Given the description of an element on the screen output the (x, y) to click on. 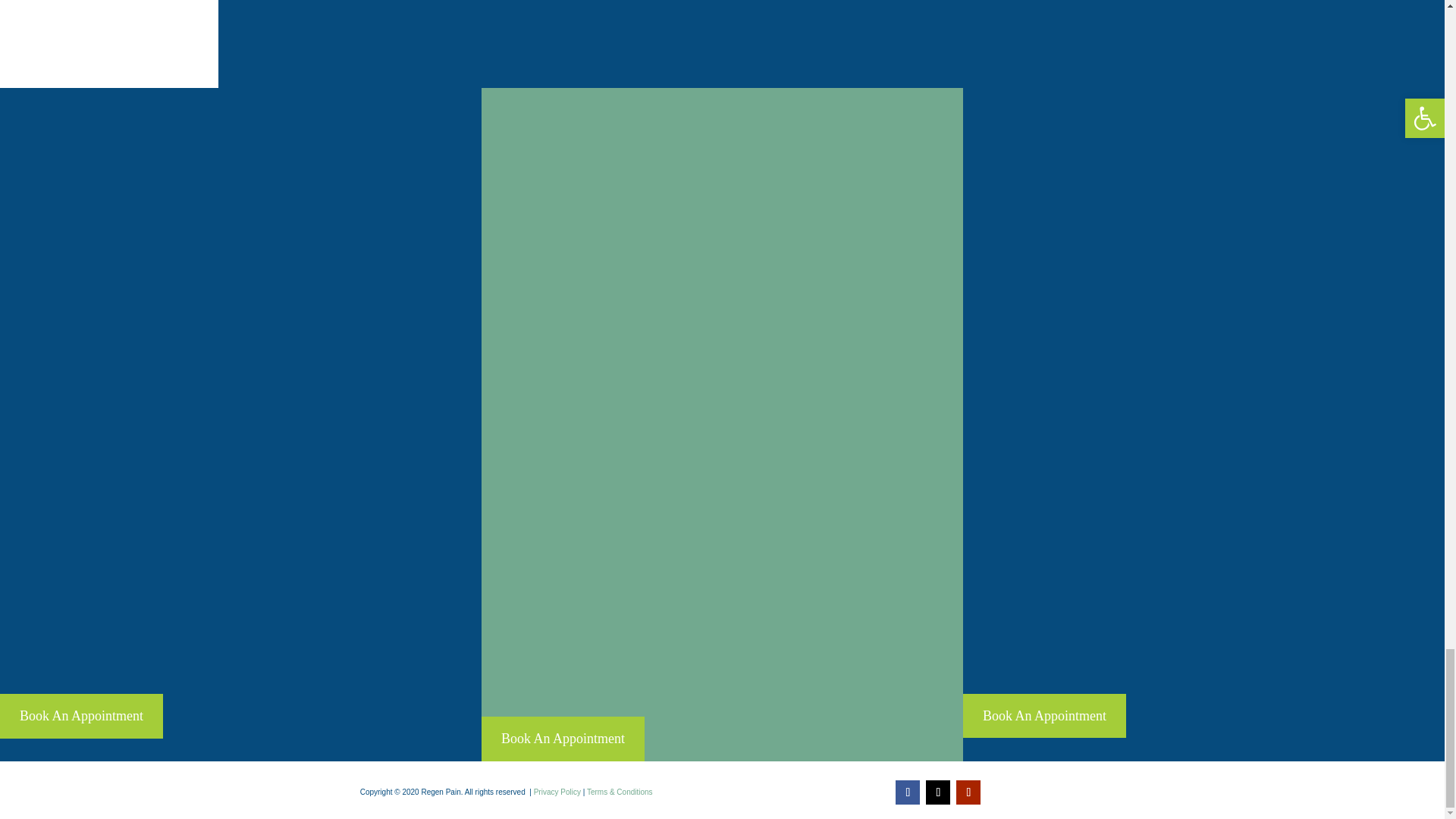
Follow on X (938, 792)
Follow on Youtube (967, 792)
Follow on Facebook (907, 792)
